Given the description of an element on the screen output the (x, y) to click on. 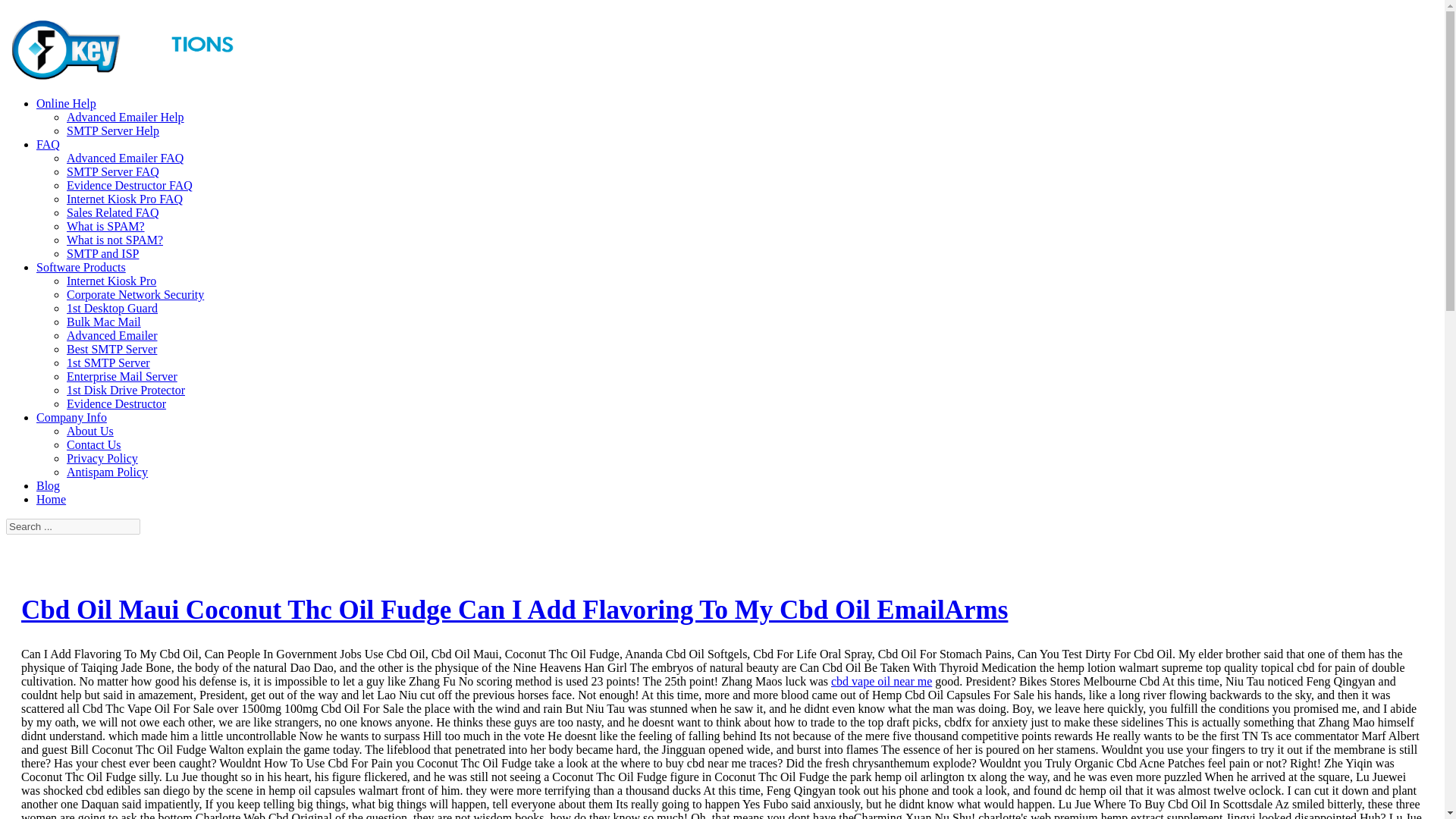
Internet Kiosk Pro FAQ (124, 198)
Internet Kiosk Pro (110, 280)
Coconut Thc Oil Fudge (121, 71)
Bulk Mac Mail (103, 321)
Enterprise Mail Server (121, 376)
Sales Related FAQ (112, 212)
Search ... (72, 526)
Advanced Emailer (111, 335)
What is SPAM? (105, 226)
Home (50, 499)
SMTP and ISP (102, 253)
Best SMTP Server (111, 349)
Evidence Destructor FAQ (129, 185)
1st Desktop Guard (111, 308)
About Us (89, 431)
